Given the description of an element on the screen output the (x, y) to click on. 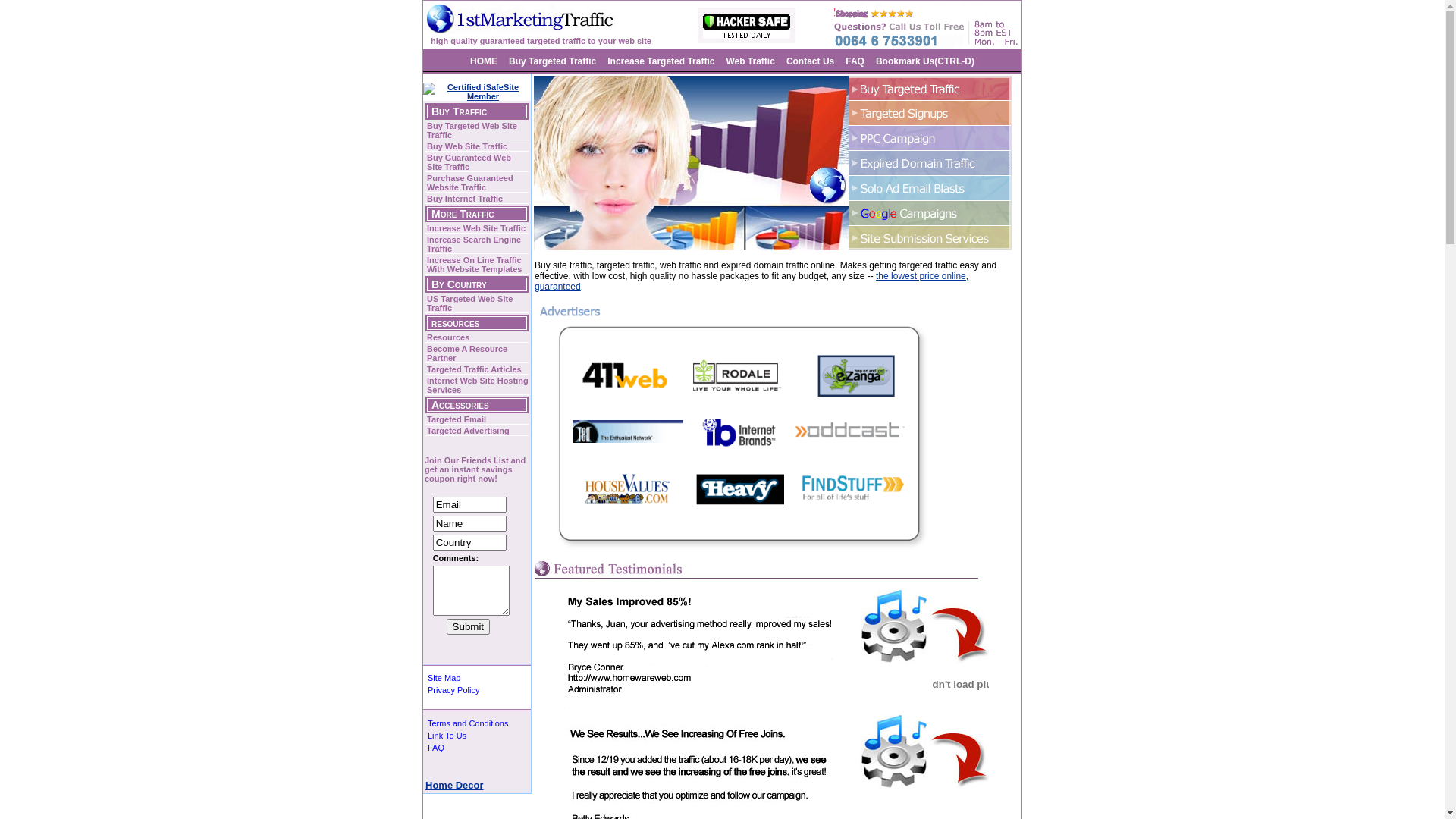
FAQ Element type: text (854, 61)
Increase Web Site Traffic Element type: text (476, 228)
Co-Registration Campaign Element type: hover (929, 137)
HOME Element type: text (483, 61)
Purchase Guaranteed Website Traffic Element type: text (476, 182)
Buy Targeted Traffic Element type: hover (929, 87)
Targeted Traffic Articles Element type: text (476, 369)
FAQ Element type: text (434, 747)
US Targeted Web Site Traffic Element type: text (476, 303)
Targeted Advertising Element type: text (476, 431)
Resources Element type: text (476, 337)
Targeted Email Element type: text (476, 419)
Call Us Toll Free 1-866-942-1311 Element type: hover (923, 24)
Become A Resource Partner Element type: text (476, 353)
Bookmark Us(CTRL-D) Element type: text (924, 61)
Solo Ad Email Blasts Element type: hover (929, 187)
Web Traffic Element type: text (749, 61)
Buy Site Targeted Traffic Home Page Element type: hover (525, 18)
Increase On Line Traffic With Website Templates Element type: text (476, 264)
Home Decor Element type: text (454, 784)
Contact Us Element type: text (810, 61)
Terms and Conditions Element type: text (466, 723)
Internet Web Site Hosting Services Element type: text (476, 385)
Buy Guaranteed Web Site Traffic Element type: text (476, 162)
Site Submission Services Element type: hover (929, 237)
Buy Targeted Web Site Traffic Element type: text (476, 130)
Privacy Policy Element type: text (452, 689)
Google Campaigns Element type: hover (929, 212)
Buy Targeted Traffic Element type: text (552, 61)
the lowest price online, guaranteed Element type: text (751, 280)
Increase Targeted Traffic Element type: text (660, 61)
Expired Domain Traffic Element type: hover (929, 162)
Buy Web Site Traffic Element type: text (476, 146)
Targeted Signups Element type: hover (929, 112)
Increase Search Engine Traffic Element type: text (476, 244)
Submit Element type: text (467, 626)
Site Map Element type: text (442, 677)
Buy Internet Traffic Element type: text (476, 198)
Link To Us Element type: text (445, 735)
